Given the description of an element on the screen output the (x, y) to click on. 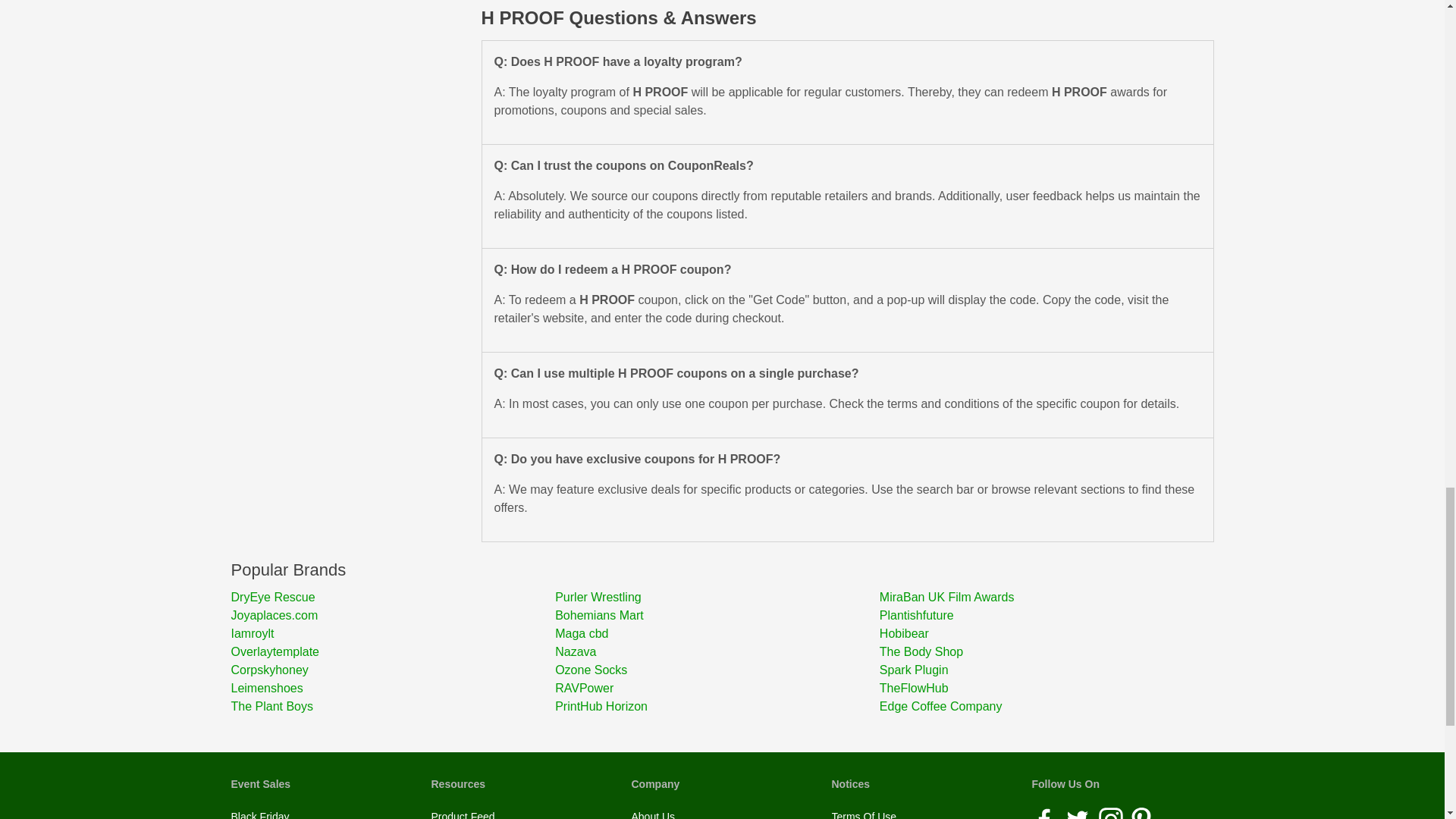
DryEye Rescue (392, 597)
Joyaplaces.com (392, 615)
Ozone Socks (716, 669)
Overlaytemplate (392, 651)
Maga cbd (716, 633)
Nazava (716, 651)
Spark Plugin (1041, 669)
Plantishfuture (1041, 615)
Bohemians Mart (716, 615)
Hobibear (1041, 633)
